Given the description of an element on the screen output the (x, y) to click on. 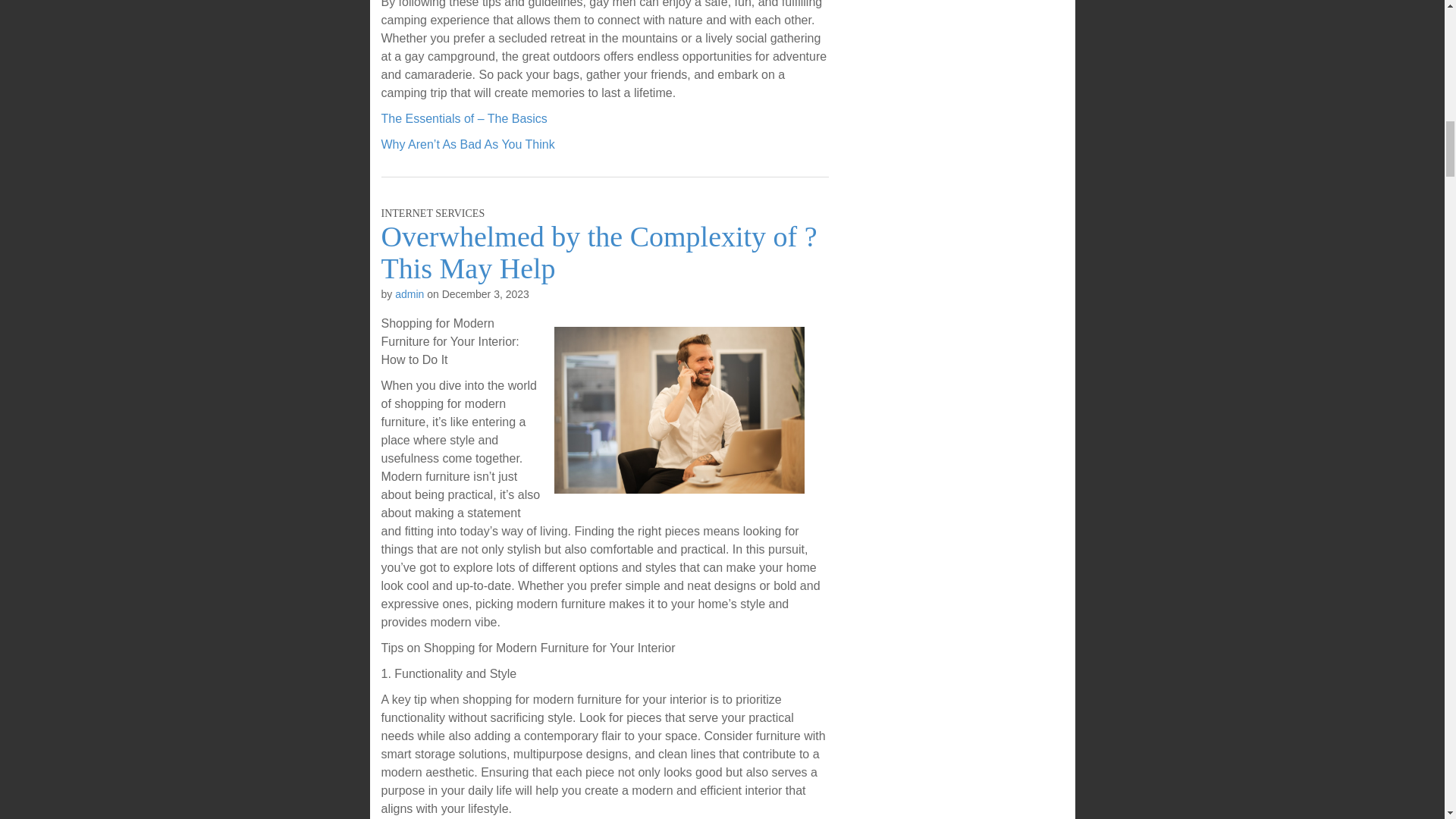
Posts by admin (408, 294)
December 3, 2023 (485, 294)
INTERNET SERVICES (432, 213)
Overwhelmed by the Complexity of ? This May Help (598, 252)
admin (408, 294)
